Given the description of an element on the screen output the (x, y) to click on. 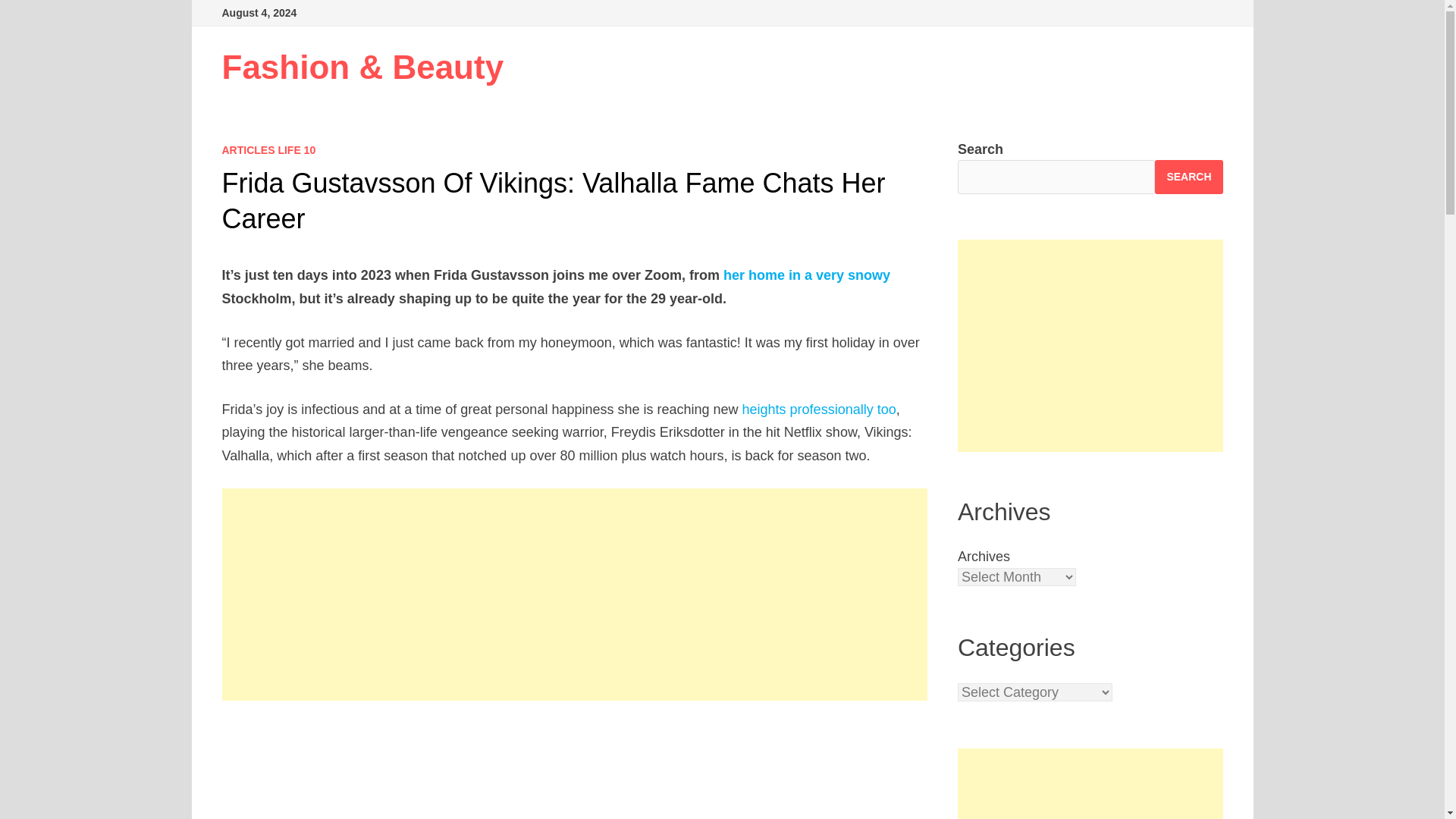
Advertisement (1090, 783)
SEARCH (1188, 176)
heights professionally too (819, 409)
Advertisement (574, 770)
her home in a very snowy (806, 274)
ARTICLES LIFE 10 (268, 150)
Advertisement (1090, 345)
